Given the description of an element on the screen output the (x, y) to click on. 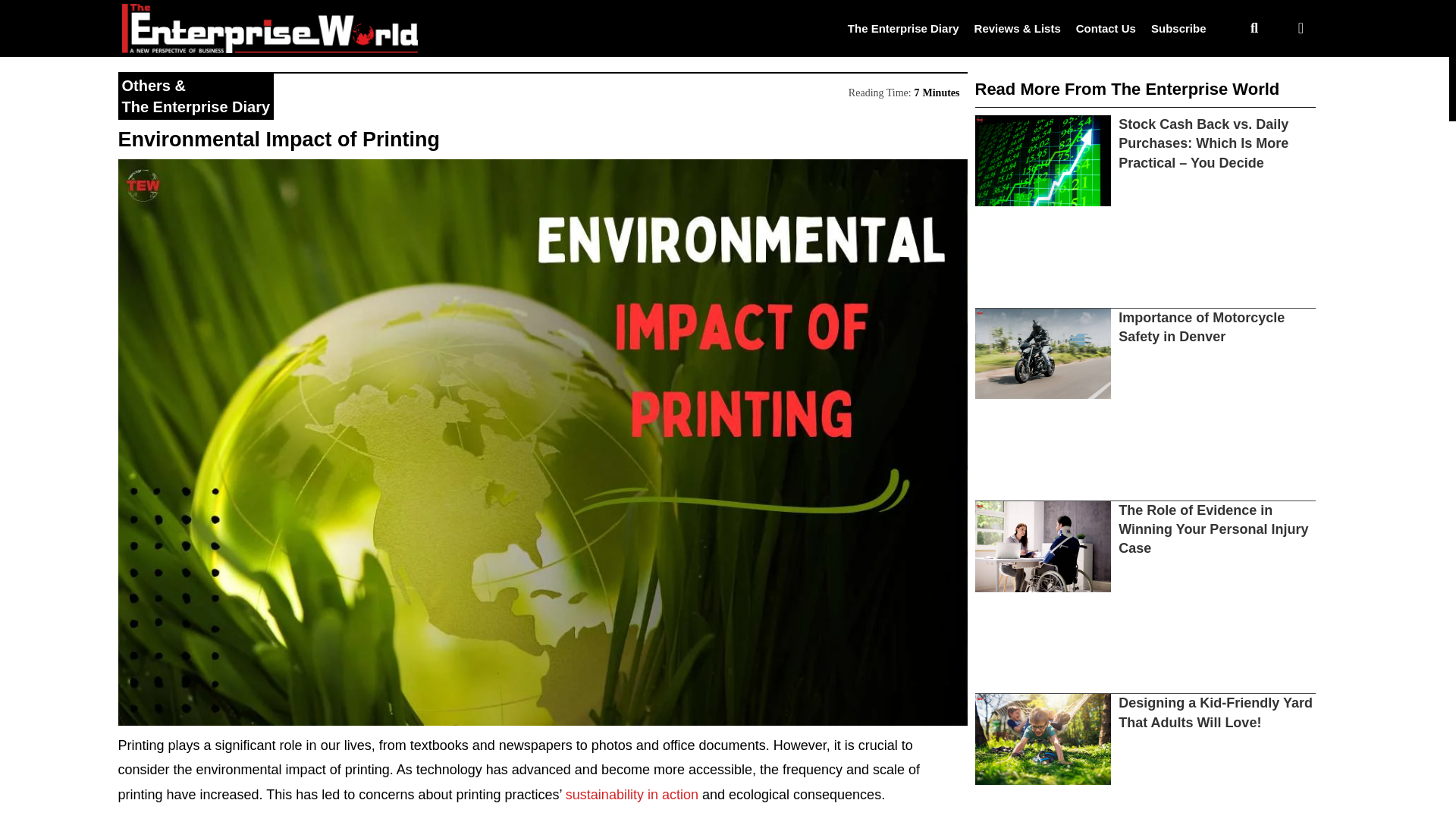
Subscribe (1179, 28)
The Enterprise Diary (194, 106)
The Enterprise Diary (903, 28)
Designing a Kid-Friendly Yard That Adults Will Love!  (1215, 712)
Contact Us (1105, 28)
Importance of Motorcycle Safety in Denver  (1201, 326)
The Role of Evidence in Winning Your Personal Injury Case  (1212, 529)
sustainability in action (632, 794)
Others (145, 85)
